Given the description of an element on the screen output the (x, y) to click on. 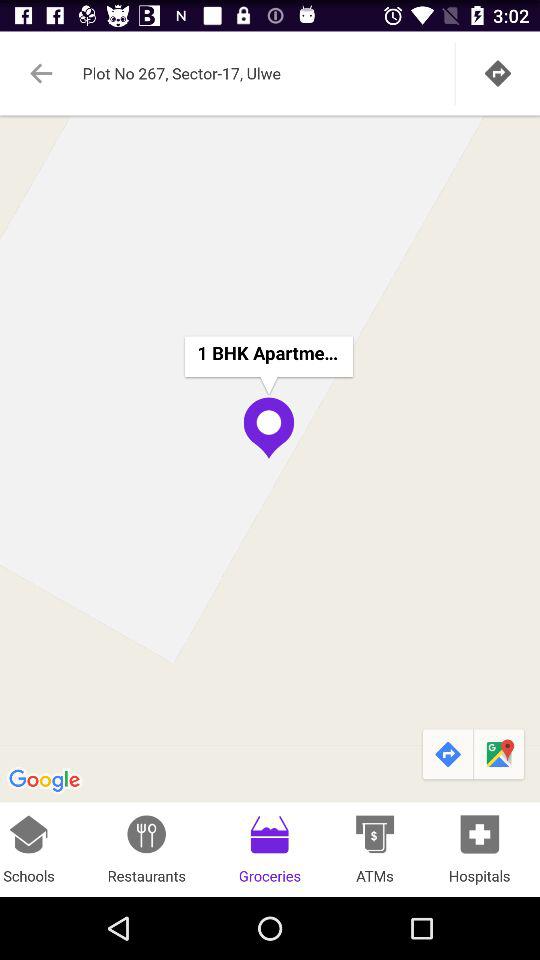
launch item above hospitals (446, 754)
